Given the description of an element on the screen output the (x, y) to click on. 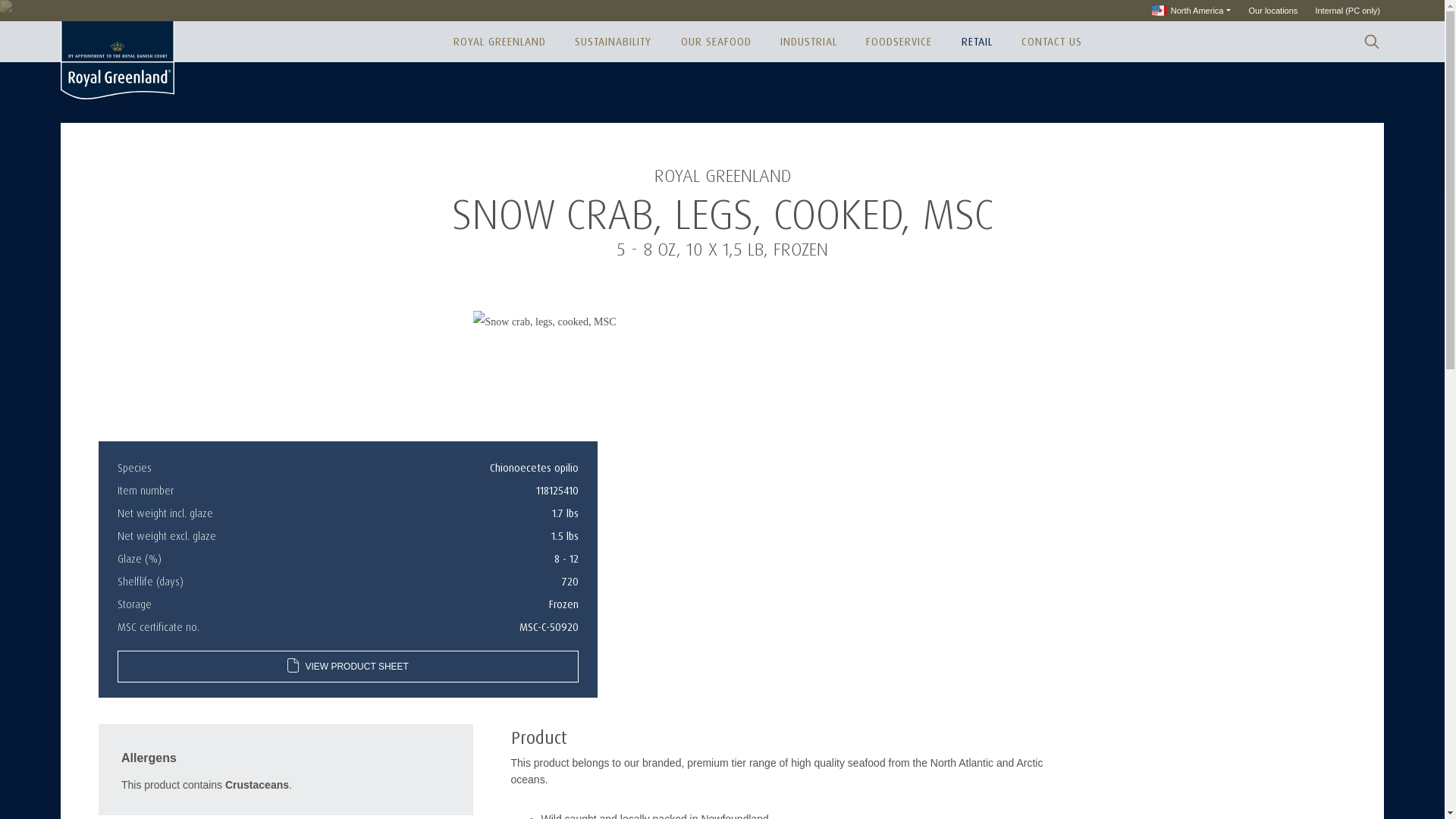
ROYAL GREENLAND (499, 41)
North America (1191, 10)
Our locations (1272, 10)
